Given the description of an element on the screen output the (x, y) to click on. 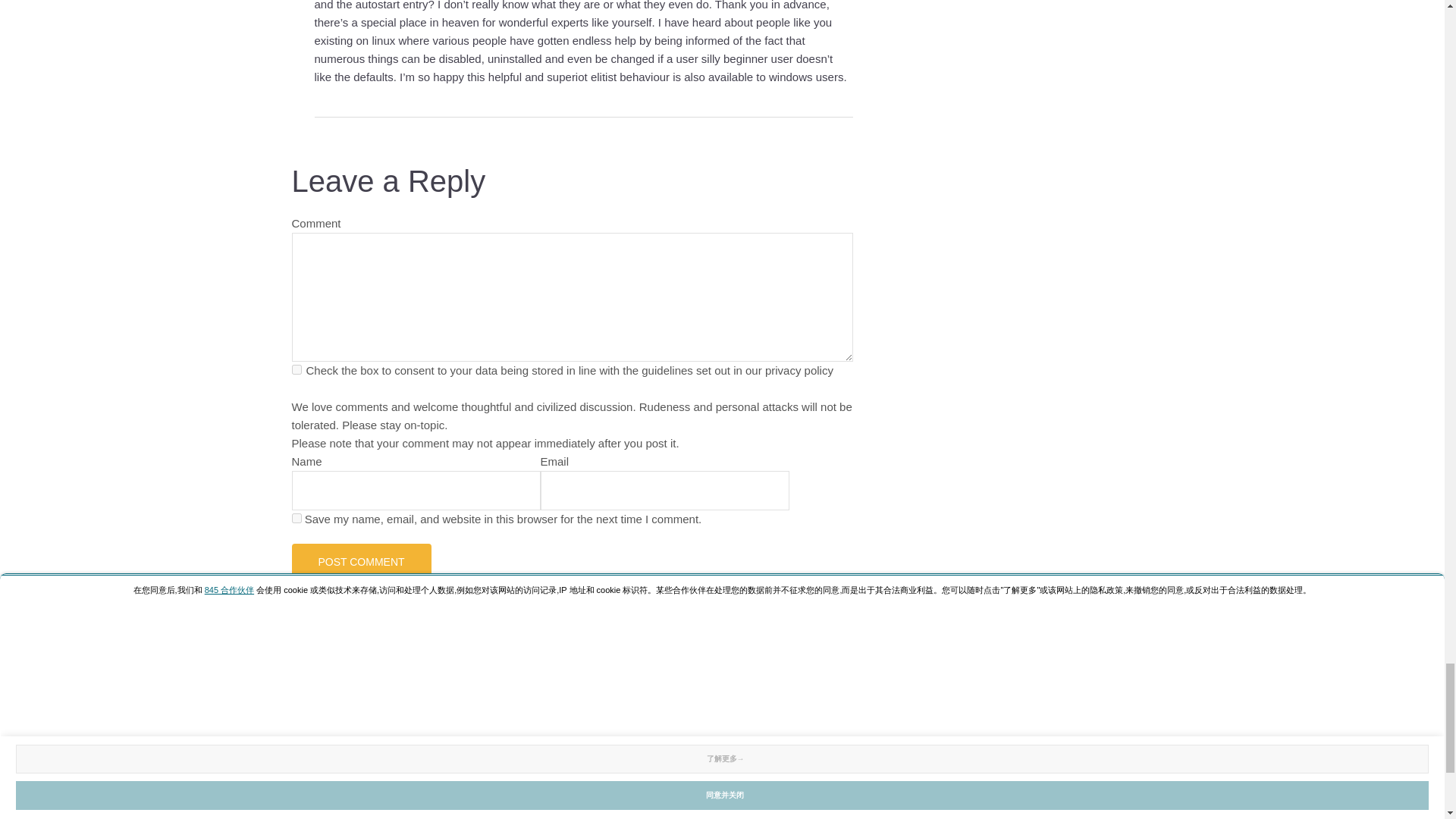
privacy-key (296, 369)
Post Comment (360, 561)
yes (296, 518)
